Given the description of an element on the screen output the (x, y) to click on. 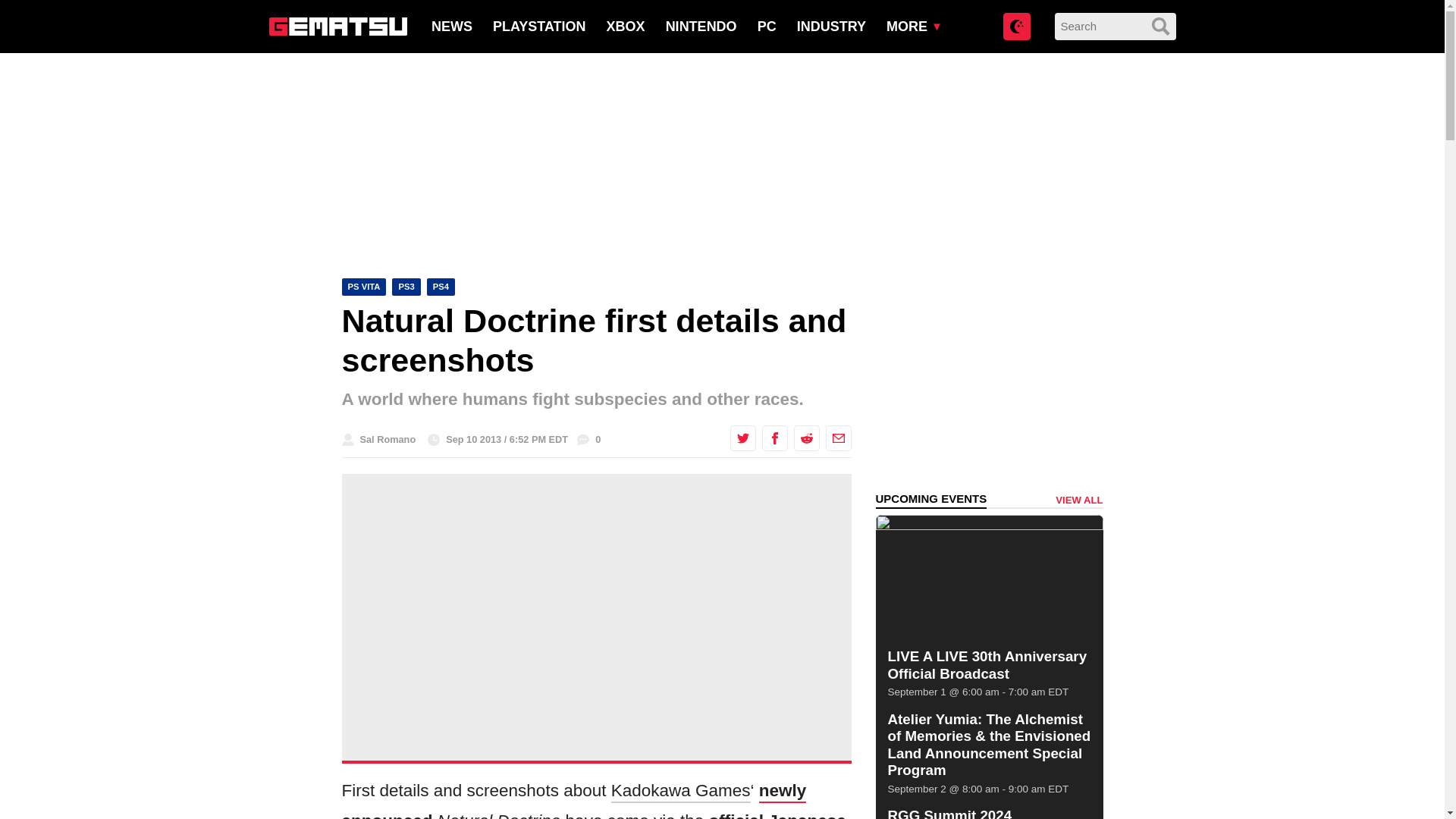
Posts by Sal Romano (386, 439)
INDUSTRY (831, 26)
NEWS (450, 26)
XBOX (626, 26)
Share this by email (837, 438)
PLAYSTATION (539, 26)
Gematsu (336, 26)
NINTENDO (700, 26)
PC (766, 26)
Share this on Facebook (774, 438)
